Given the description of an element on the screen output the (x, y) to click on. 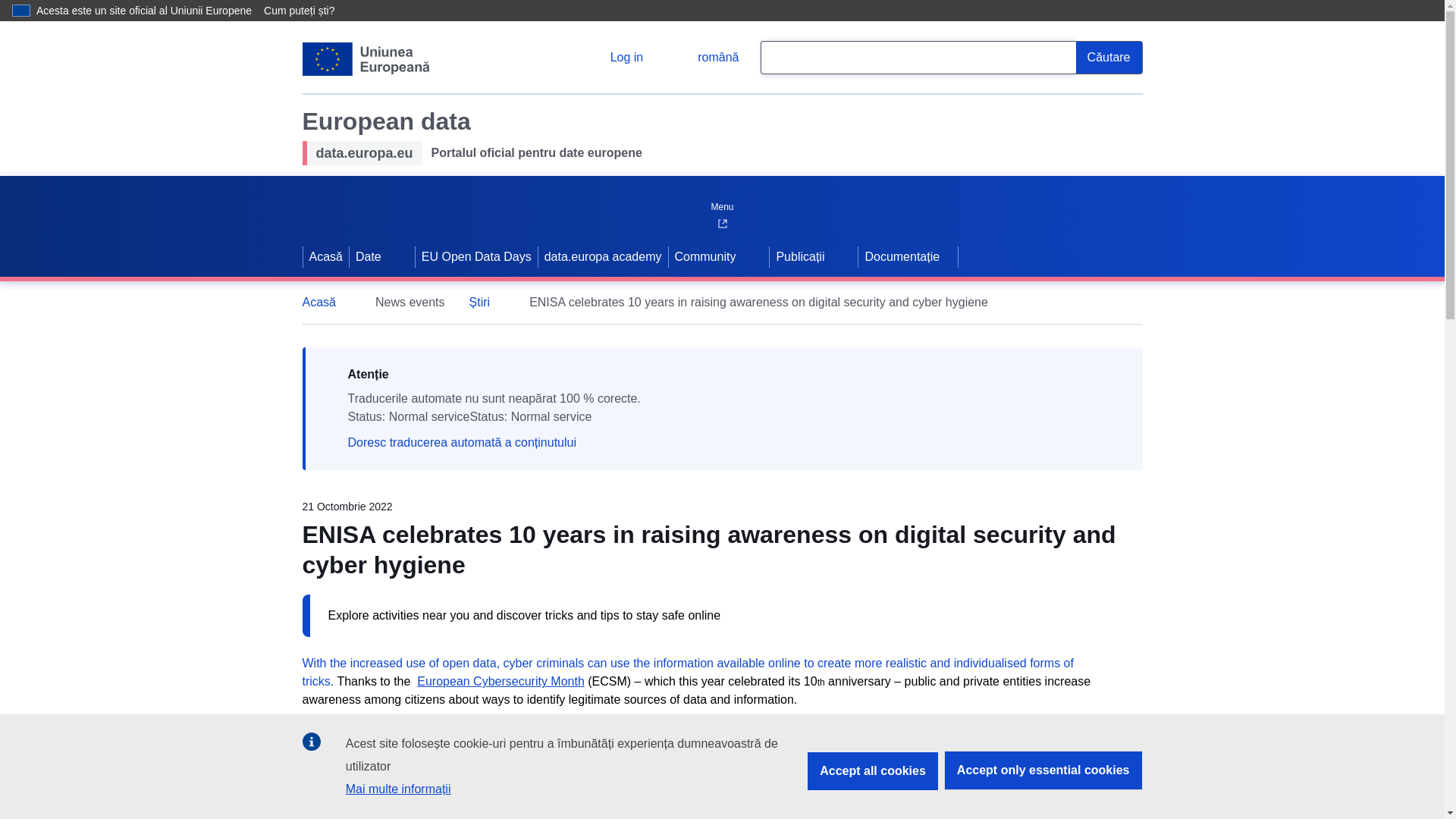
European Union (365, 59)
EU Open Data Days (475, 256)
Community (703, 256)
Menu (721, 203)
Log in (614, 57)
data.europa academy (603, 256)
